Given the description of an element on the screen output the (x, y) to click on. 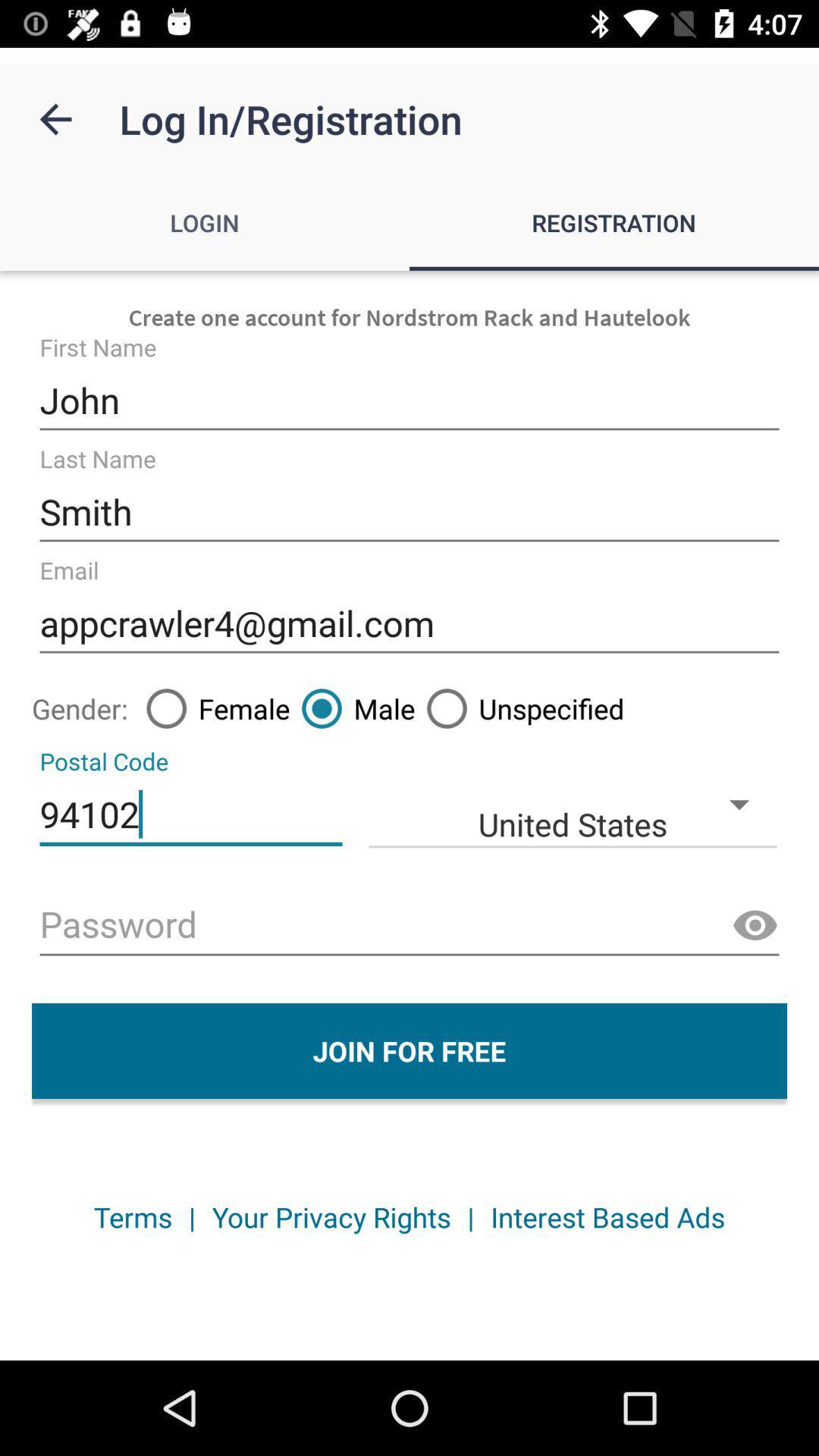
show the password (755, 925)
